Given the description of an element on the screen output the (x, y) to click on. 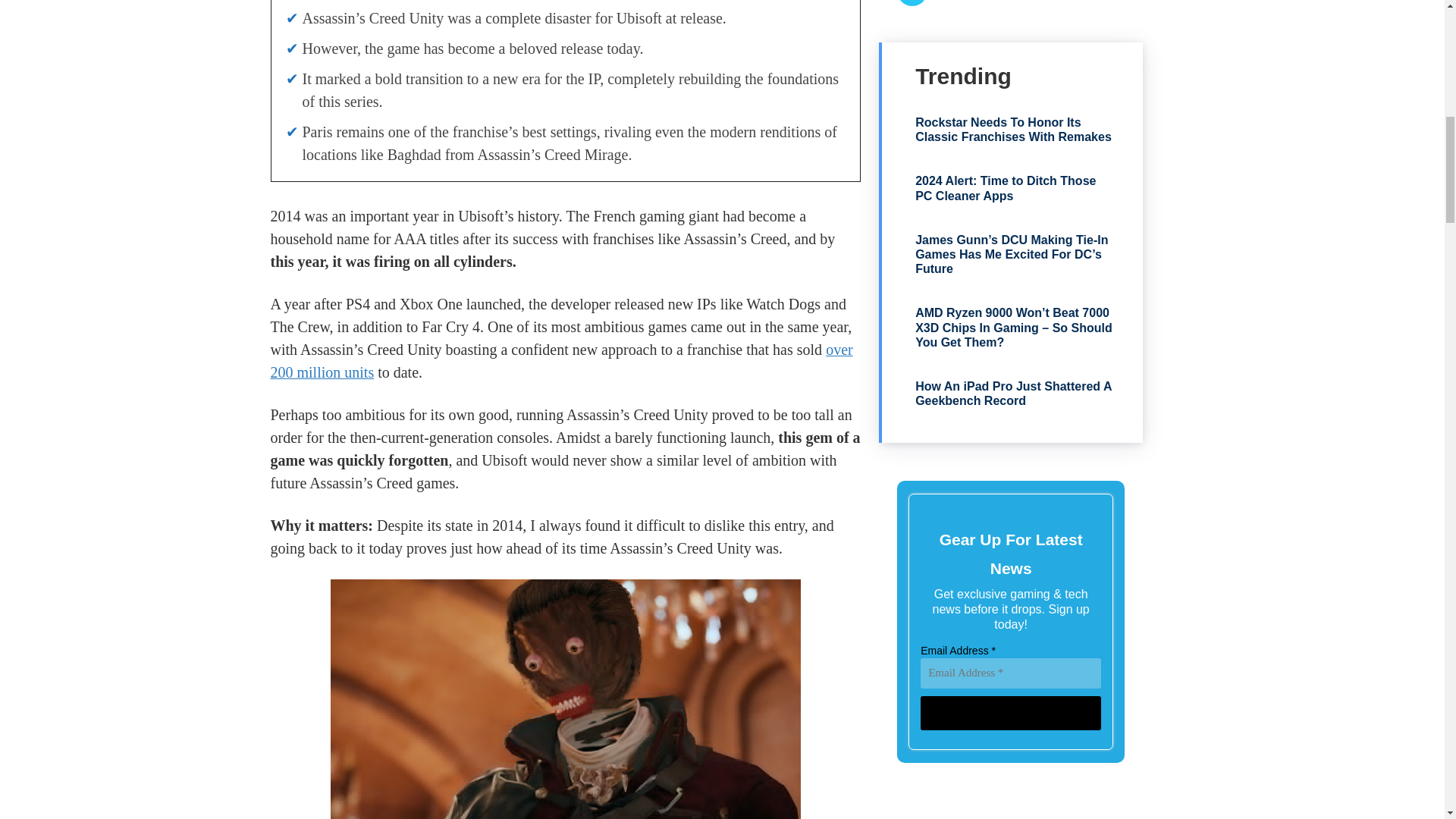
Subscribe! (1010, 713)
